Given the description of an element on the screen output the (x, y) to click on. 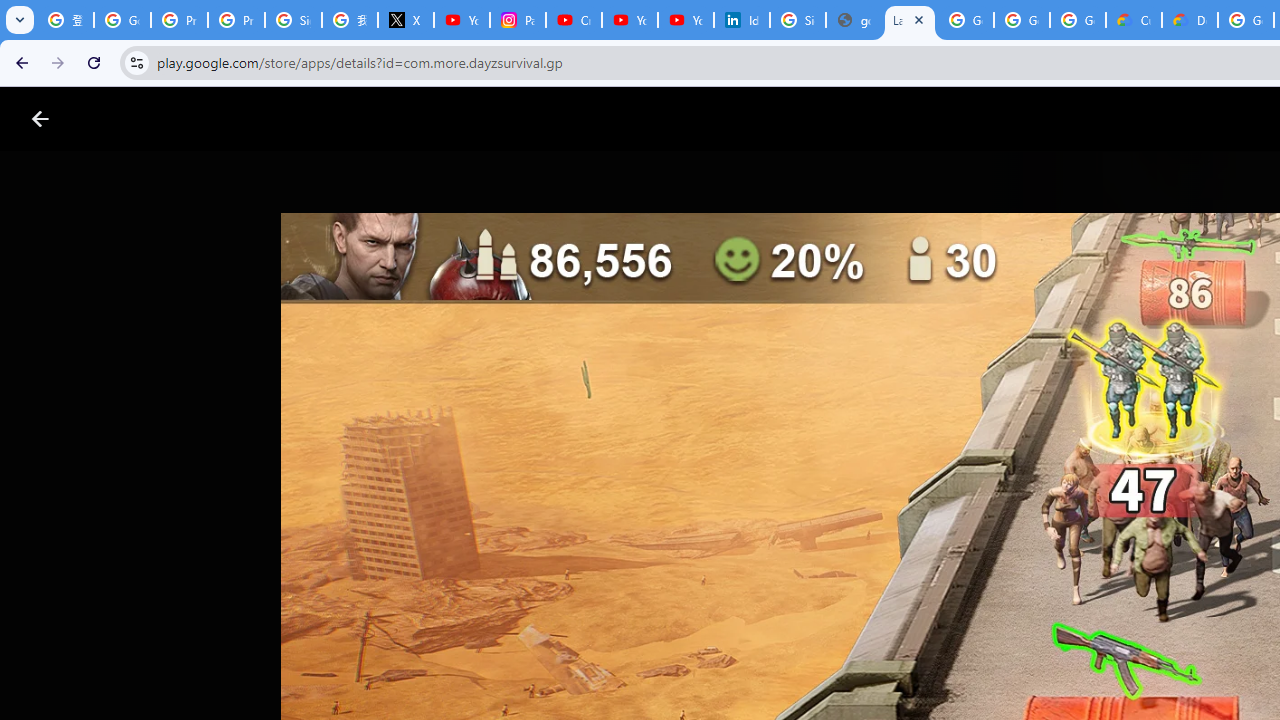
More info about this content rating (1013, 678)
Kids (385, 119)
Close screenshot viewer (39, 119)
Last Shelter: Survival - Apps on Google Play (909, 20)
Google Play logo (111, 119)
X (405, 20)
Privacy Help Center - Policies Help (235, 20)
Sign in - Google Accounts (293, 20)
